Given the description of an element on the screen output the (x, y) to click on. 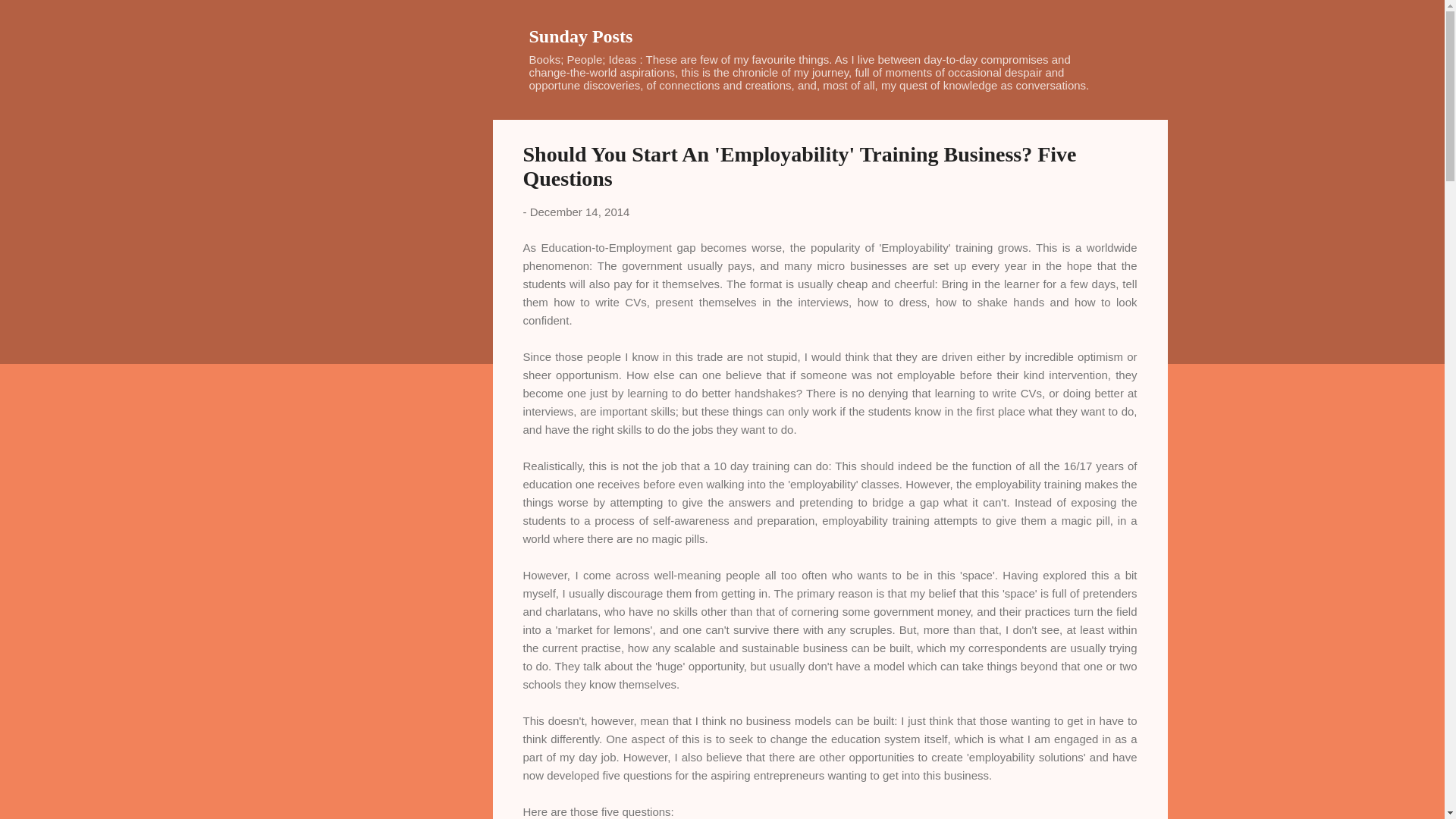
December 14, 2014 (579, 211)
Sunday Posts (581, 35)
Search (29, 18)
permanent link (579, 211)
